Given the description of an element on the screen output the (x, y) to click on. 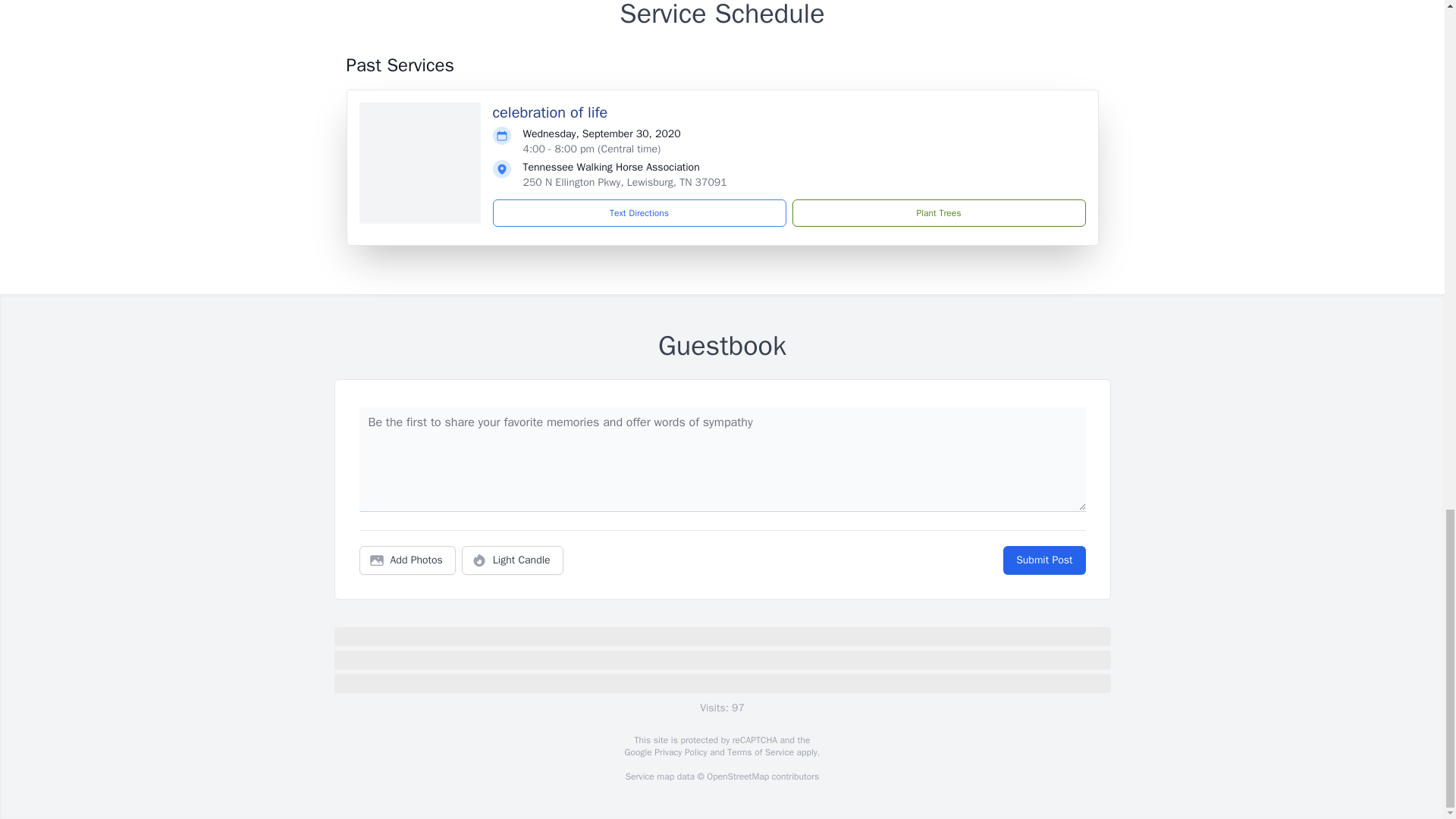
Terms of Service (759, 752)
Privacy Policy (679, 752)
Text Directions (639, 212)
Submit Post (1043, 560)
OpenStreetMap (737, 776)
Add Photos (407, 560)
Light Candle (512, 560)
Plant Trees (938, 212)
250 N Ellington Pkwy, Lewisburg, TN 37091 (624, 182)
